Given the description of an element on the screen output the (x, y) to click on. 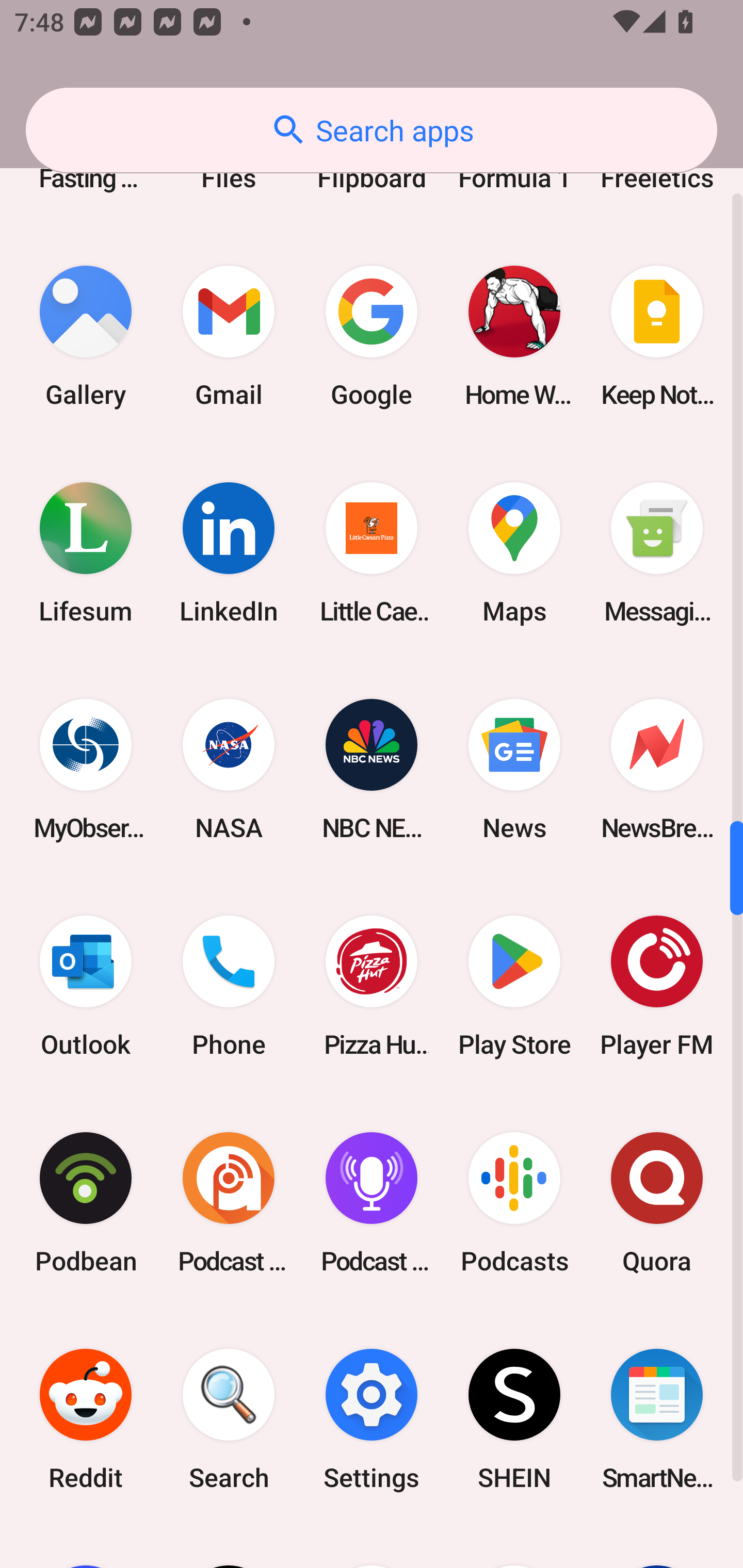
  Search apps (371, 130)
Gallery (85, 336)
Gmail (228, 336)
Google (371, 336)
Home Workout (514, 336)
Keep Notes (656, 336)
Lifesum (85, 553)
LinkedIn (228, 553)
Little Caesars Pizza (371, 553)
Maps (514, 553)
Messaging (656, 553)
MyObservatory (85, 769)
NASA (228, 769)
NBC NEWS (371, 769)
News (514, 769)
NewsBreak (656, 769)
Outlook (85, 986)
Phone (228, 986)
Pizza Hut HK & Macau (371, 986)
Play Store (514, 986)
Player FM (656, 986)
Podbean (85, 1202)
Podcast Addict (228, 1202)
Podcast Player (371, 1202)
Podcasts (514, 1202)
Quora (656, 1202)
Reddit (85, 1418)
Search (228, 1418)
Settings (371, 1418)
SHEIN (514, 1418)
SmartNews (656, 1418)
